Given the description of an element on the screen output the (x, y) to click on. 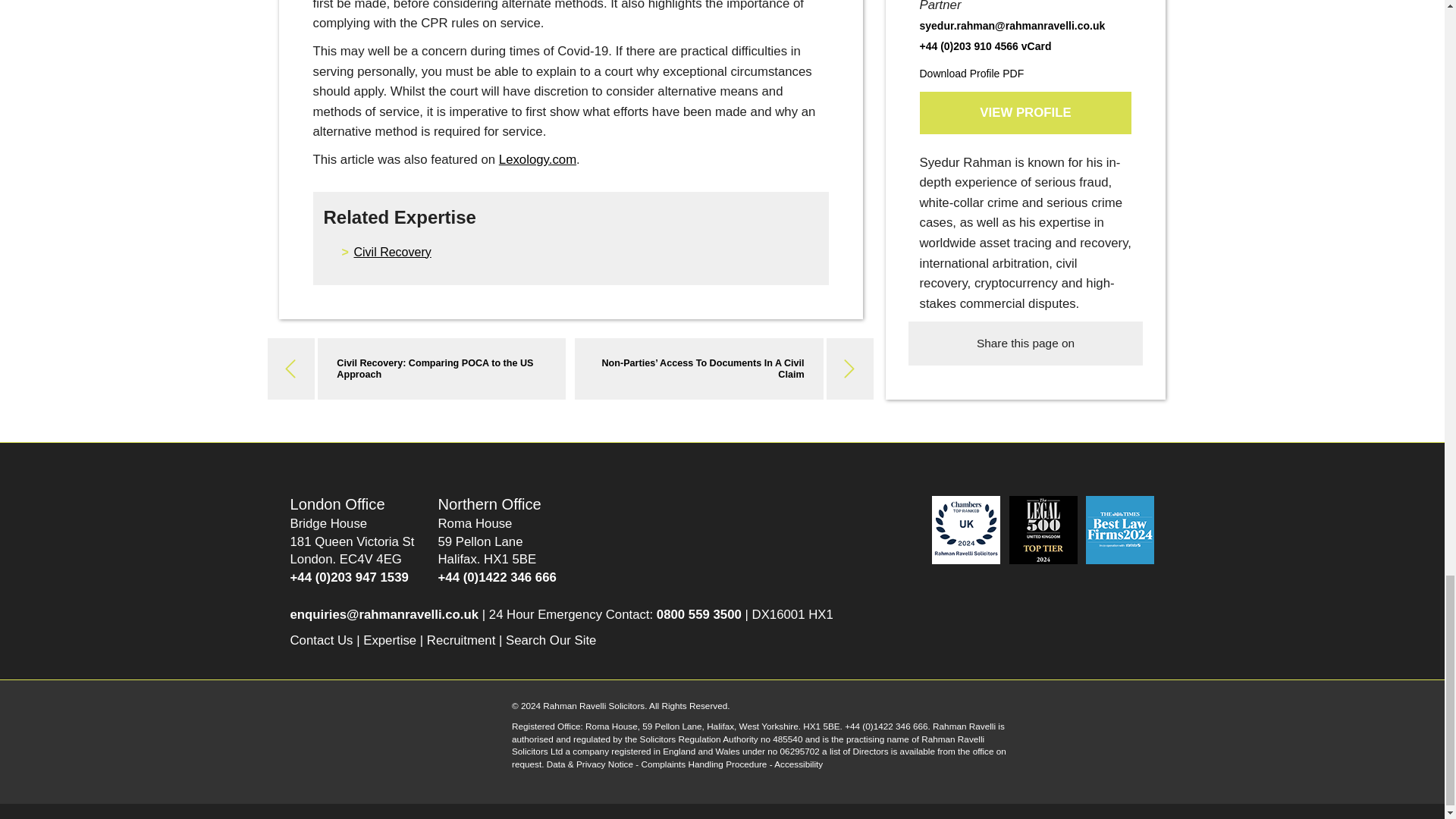
Link to: Civil Recovery: Comparing POCA to the US Approach (434, 368)
Link to: Civil Recovery (391, 251)
Link to send an email (384, 614)
Link to Expertise (389, 640)
link to view the Rahman Ravelli profile at Legal500 website (1044, 529)
